Given the description of an element on the screen output the (x, y) to click on. 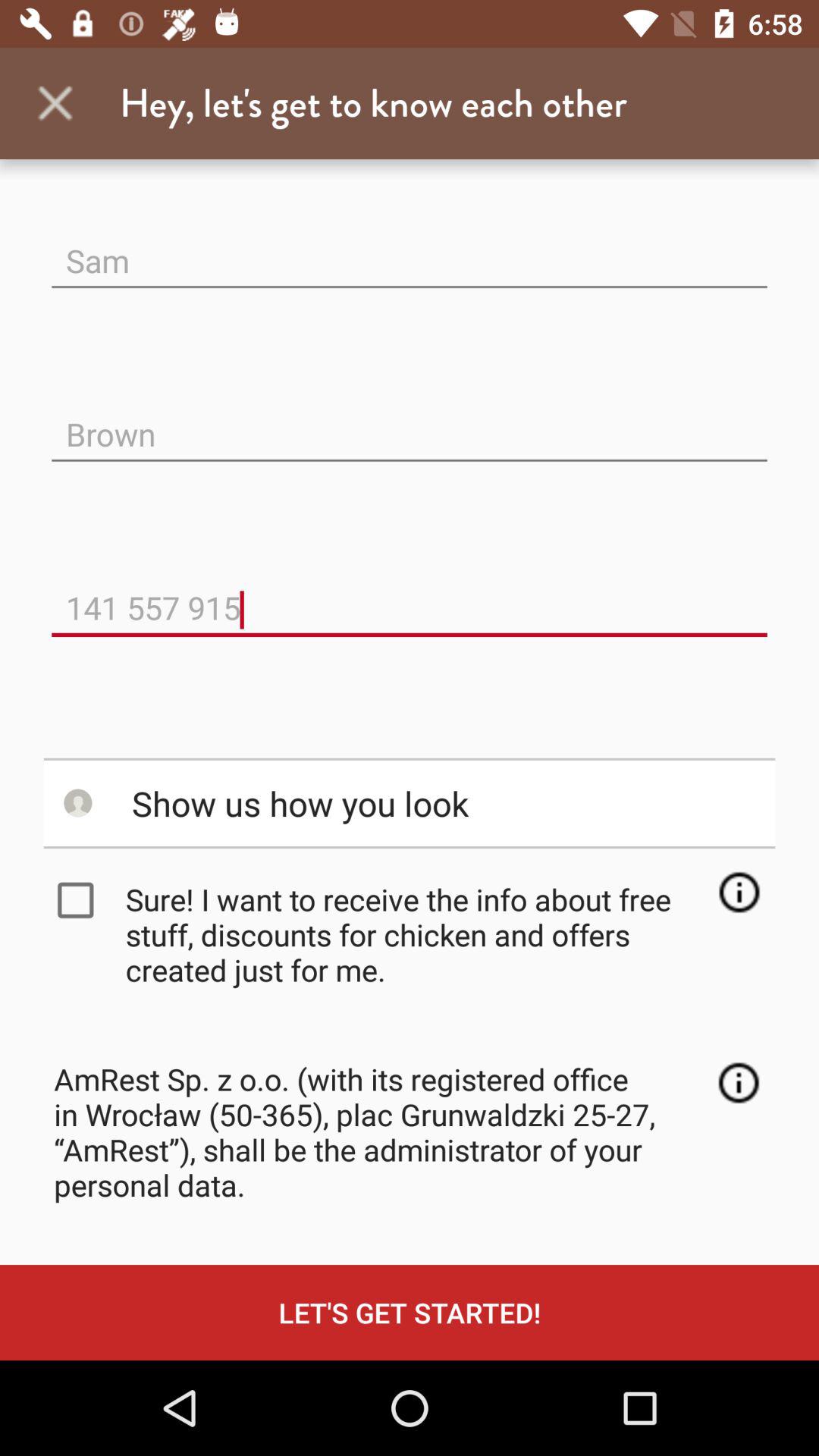
jump until 141 557 915 (409, 595)
